Given the description of an element on the screen output the (x, y) to click on. 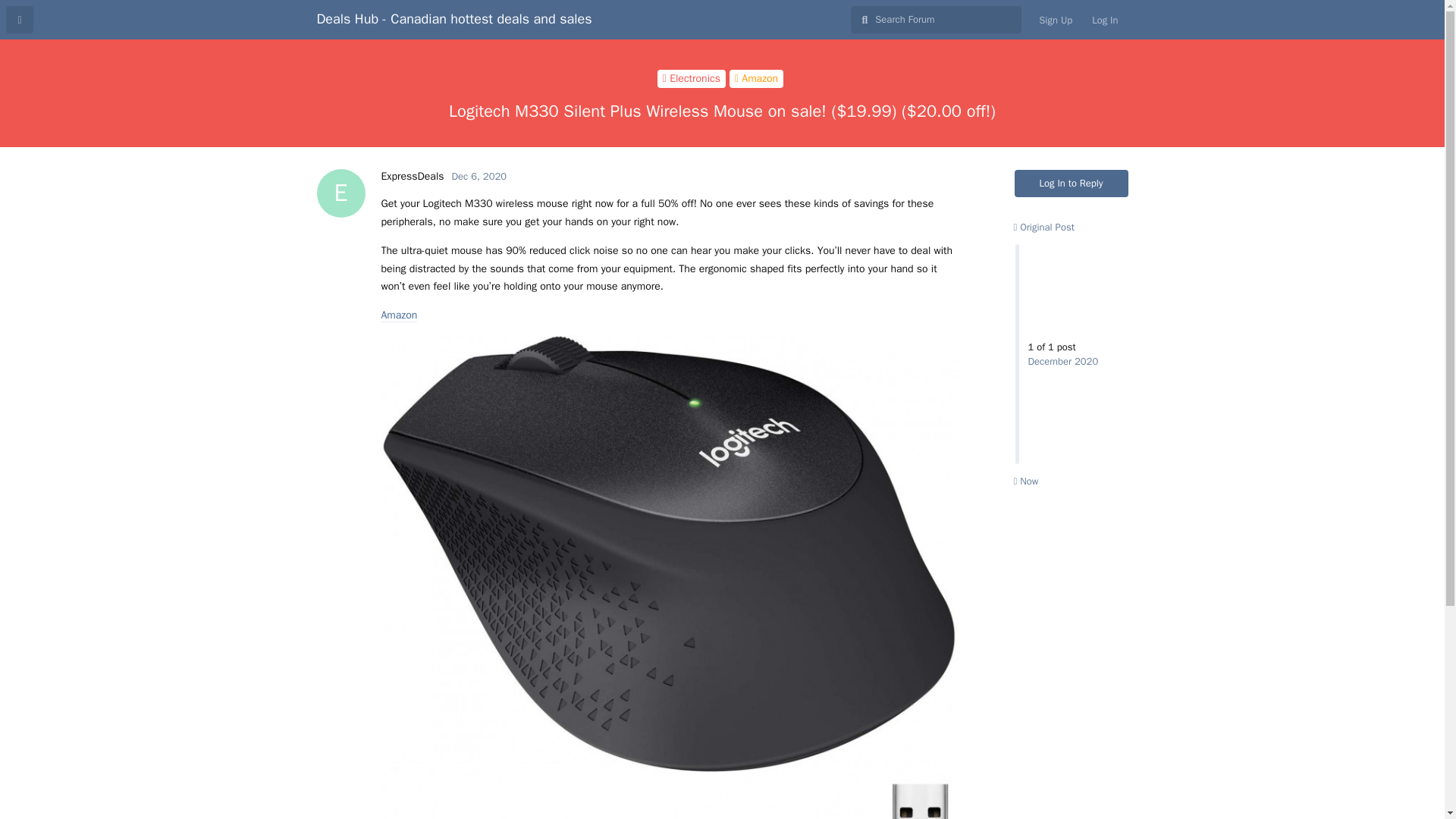
Log In (1103, 19)
Log In to Reply (1071, 183)
Dec 6, 2020 (412, 175)
Amazon (478, 175)
Electronics (756, 78)
Sunday, December 6, 2020 5:04 AM (691, 78)
Amazon (478, 175)
Original Post (398, 315)
Now (1043, 226)
